Given the description of an element on the screen output the (x, y) to click on. 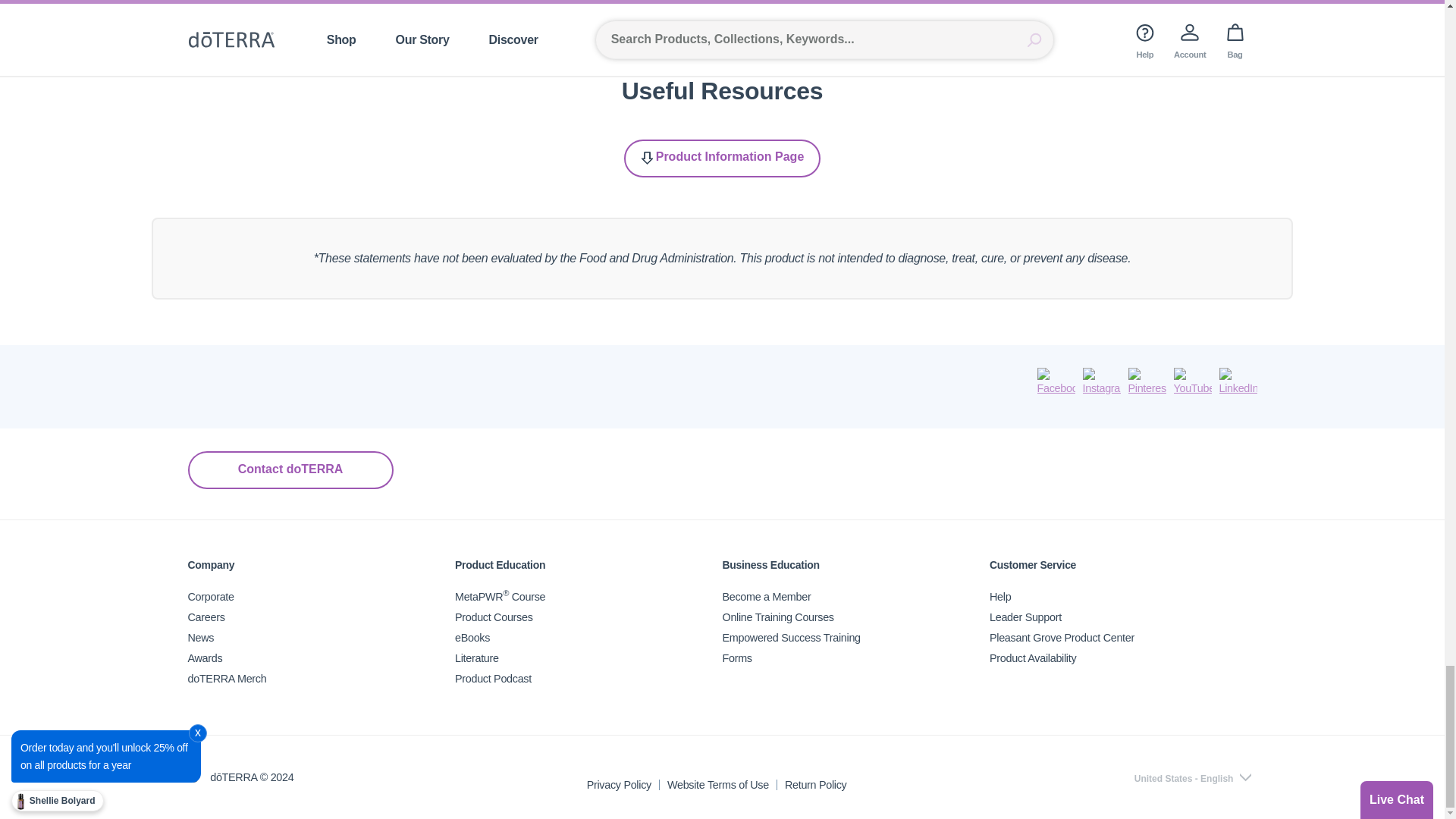
LinkedIn (1238, 382)
YouTube (1192, 382)
Pinterest (1147, 382)
Instagram (1102, 382)
Facebook (1055, 382)
